Given the description of an element on the screen output the (x, y) to click on. 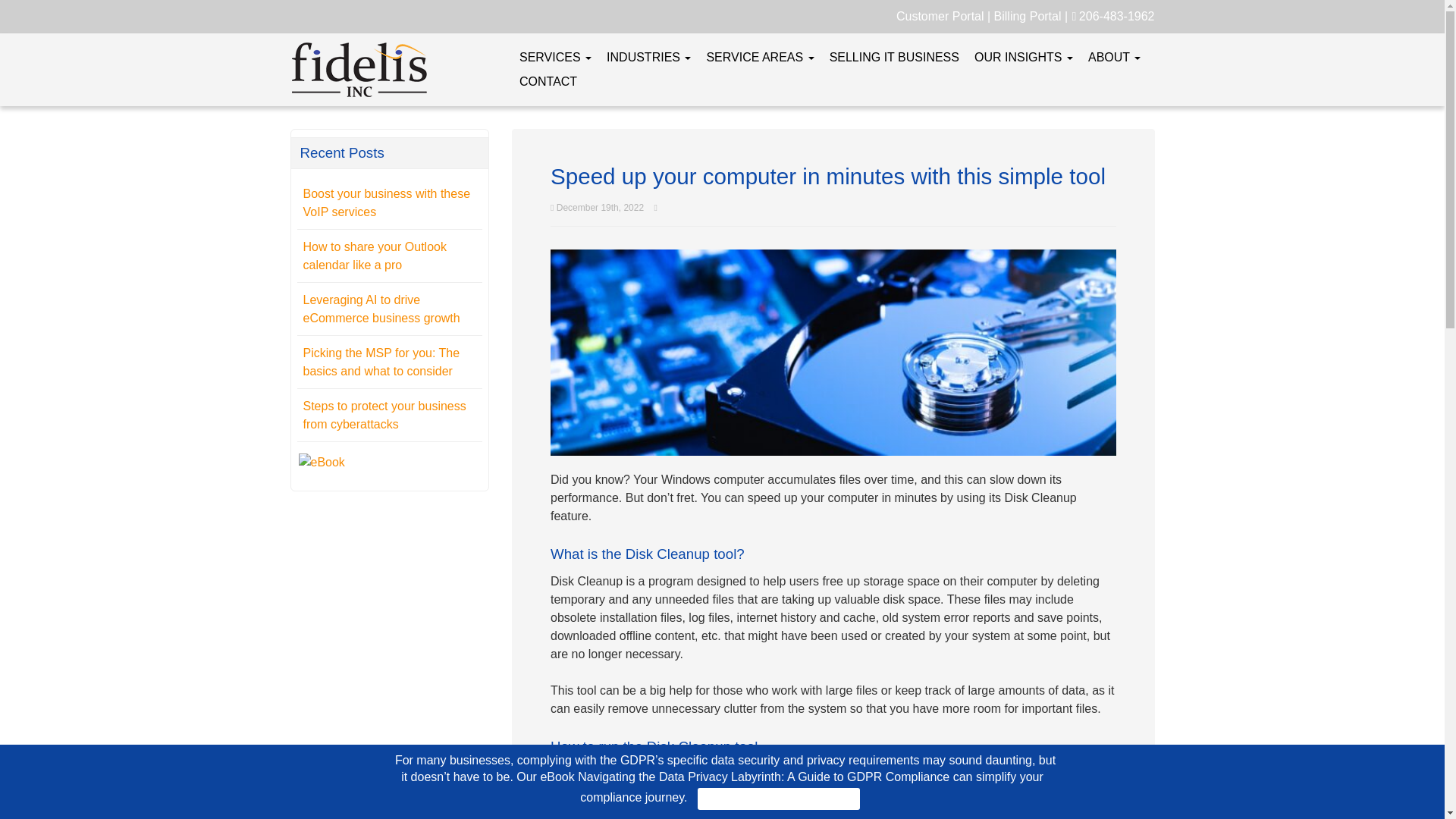
INDUSTRIES (648, 57)
Billing Portal (1027, 15)
Customer Portal (940, 15)
206-483-1962 (1116, 15)
SERVICES (555, 57)
